Given the description of an element on the screen output the (x, y) to click on. 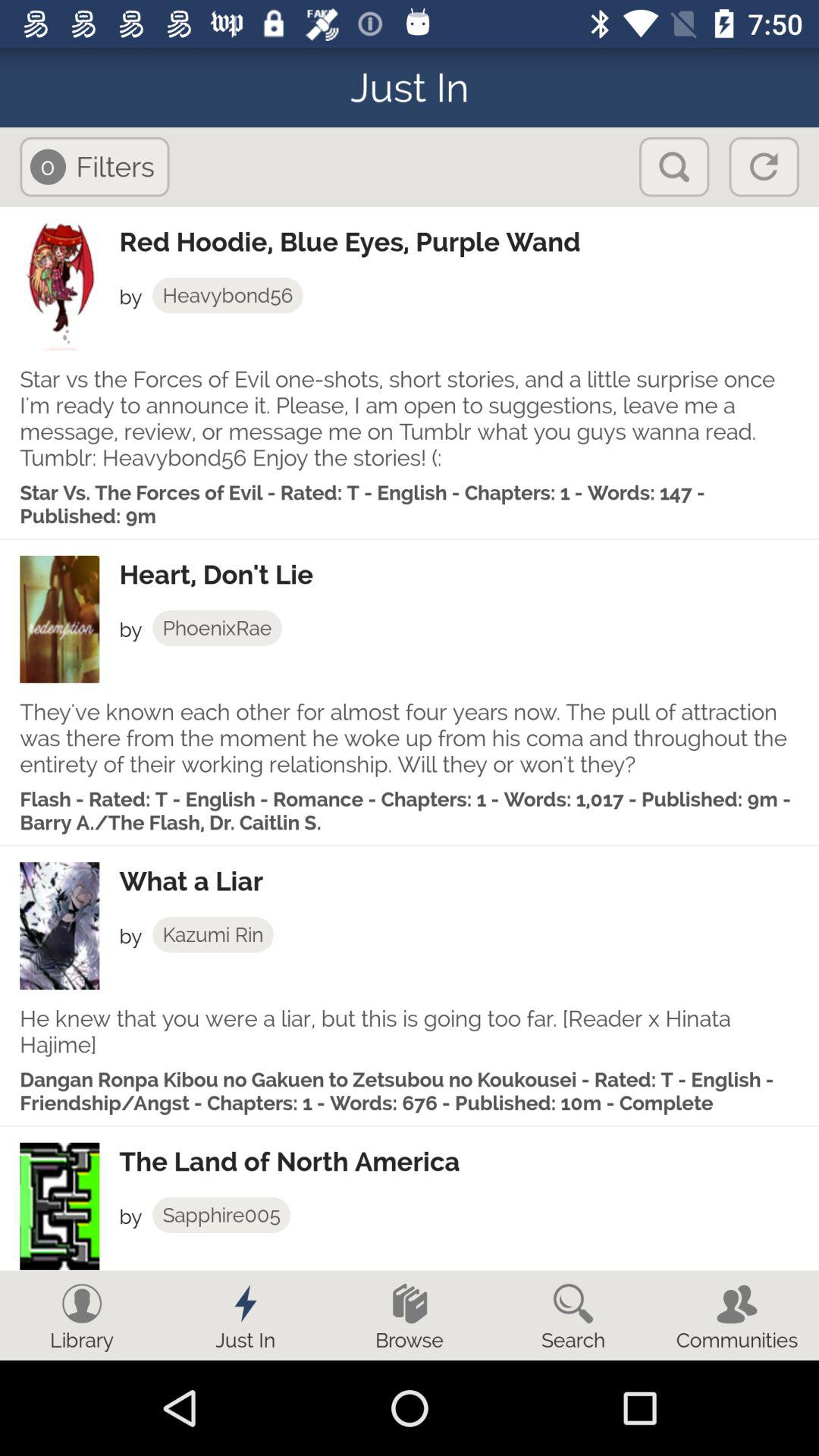
choose app below filters icon (469, 241)
